Given the description of an element on the screen output the (x, y) to click on. 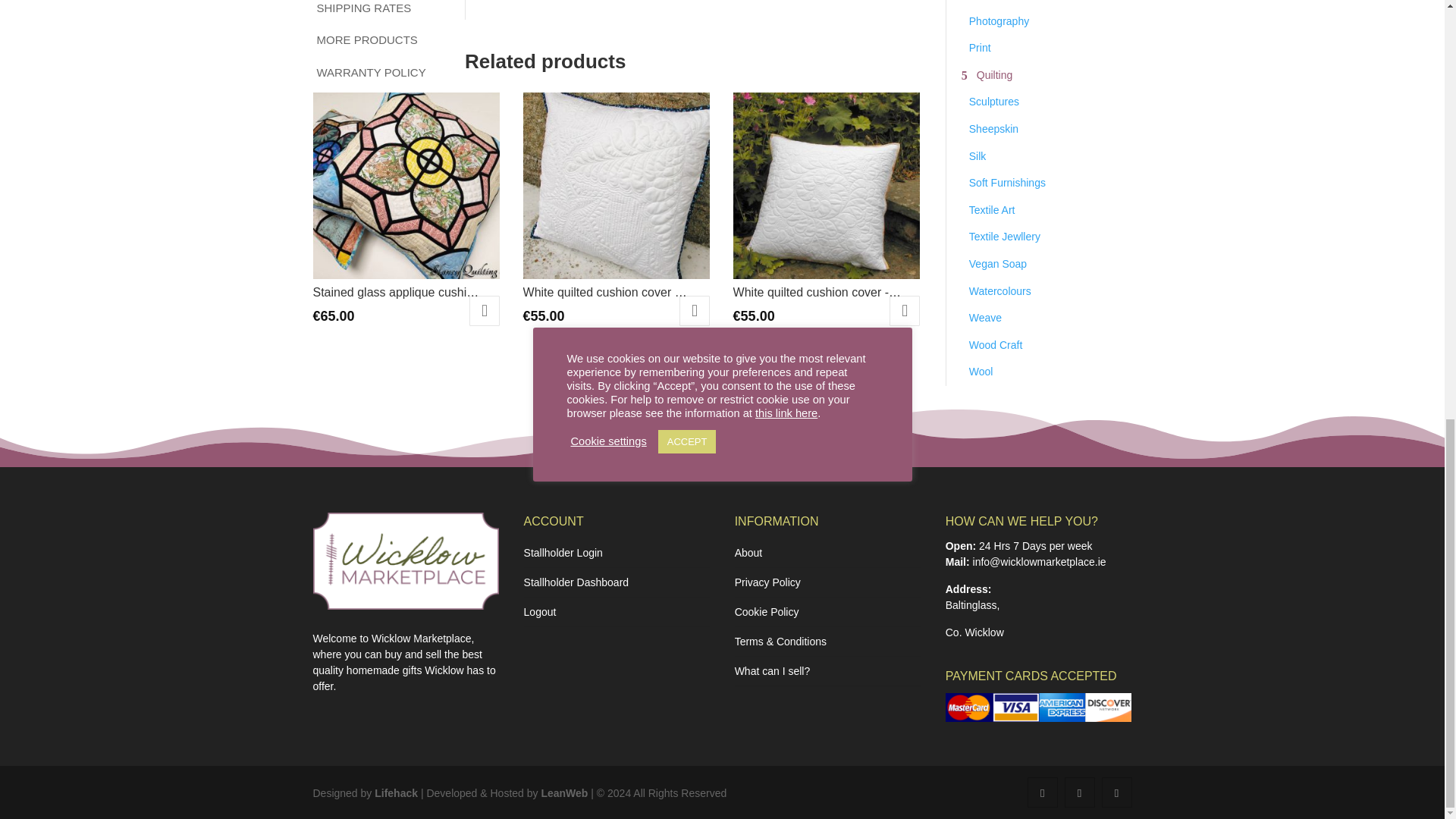
Payment accept (1038, 706)
